Given the description of an element on the screen output the (x, y) to click on. 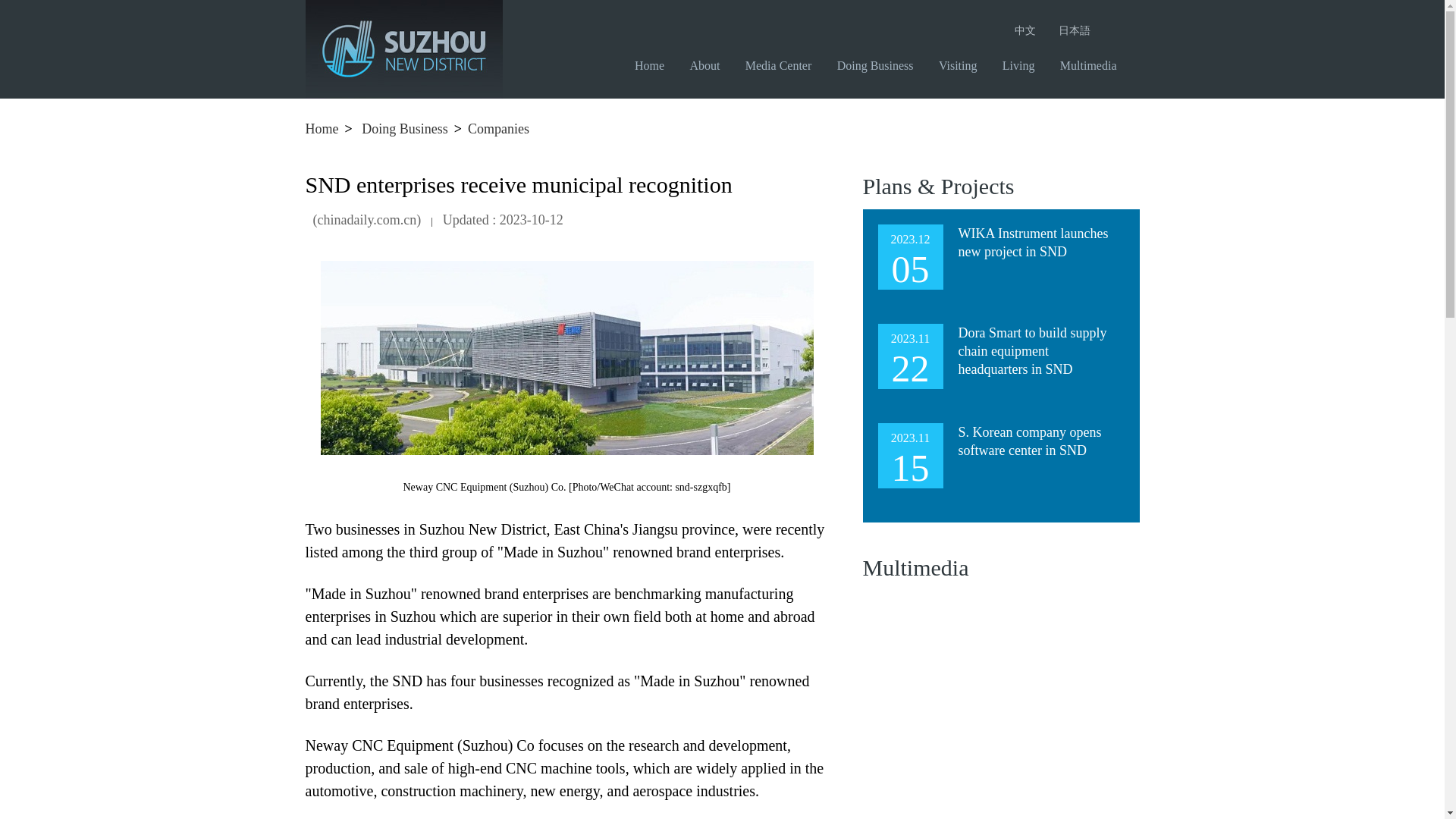
Visiting (963, 65)
Doing Business (880, 65)
Media Center (784, 65)
Doing Business (404, 128)
Multimedia (1093, 65)
Living (1024, 65)
Home (320, 128)
1697090344387095851.jpg (566, 358)
About (709, 65)
Companies (498, 128)
Home (654, 65)
